Given the description of an element on the screen output the (x, y) to click on. 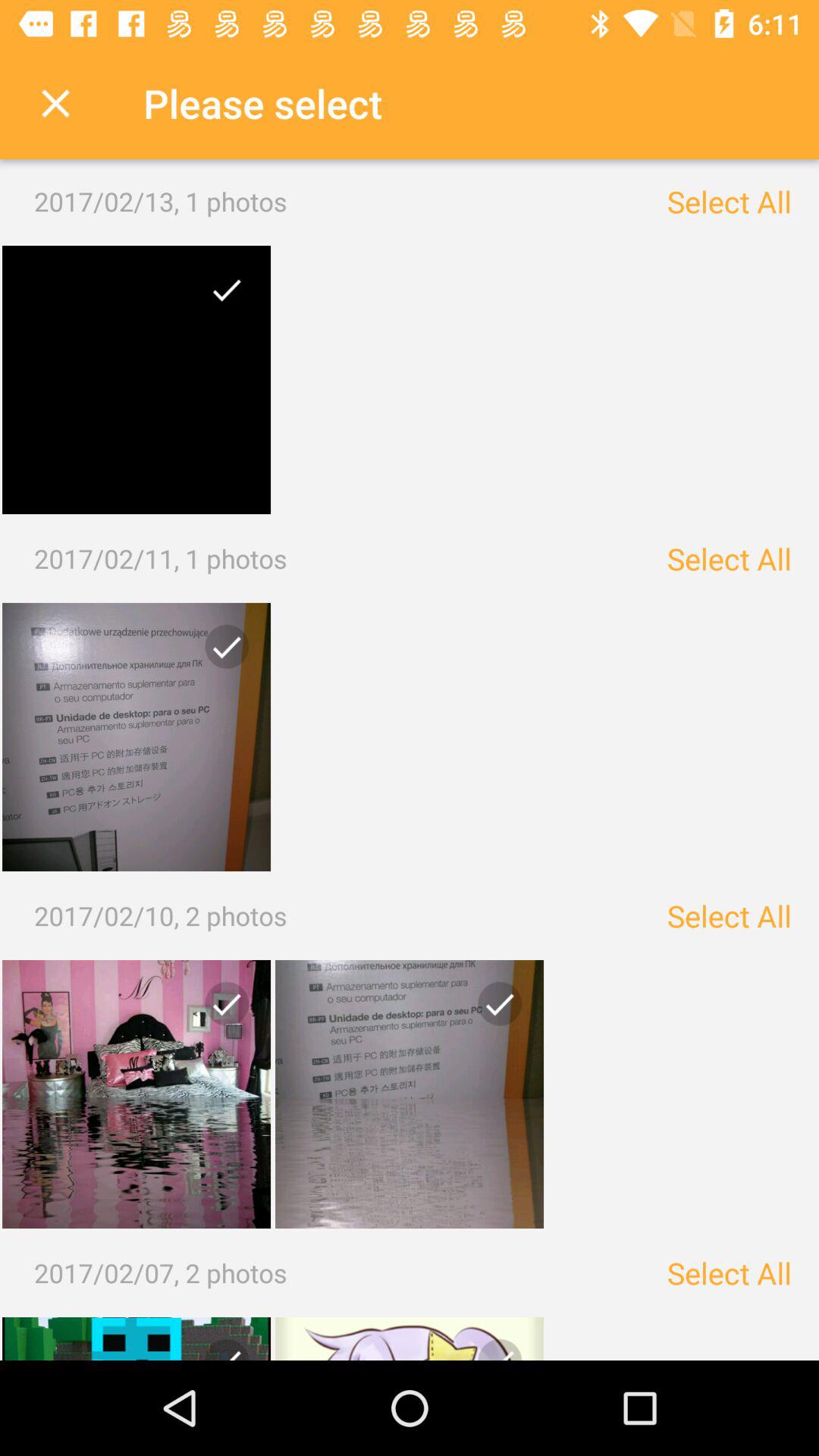
select photo (220, 295)
